Given the description of an element on the screen output the (x, y) to click on. 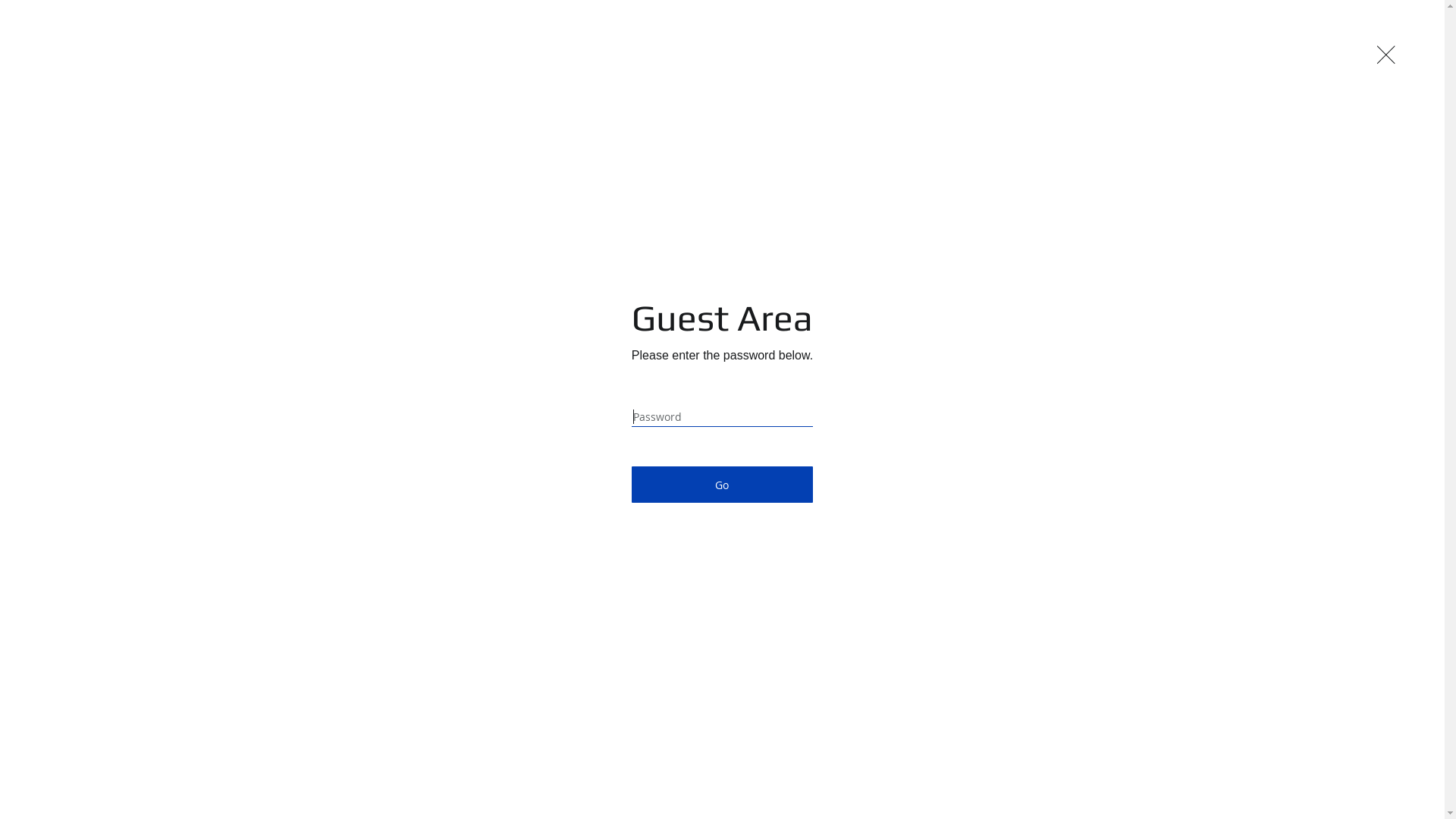
Go Element type: text (721, 484)
